Given the description of an element on the screen output the (x, y) to click on. 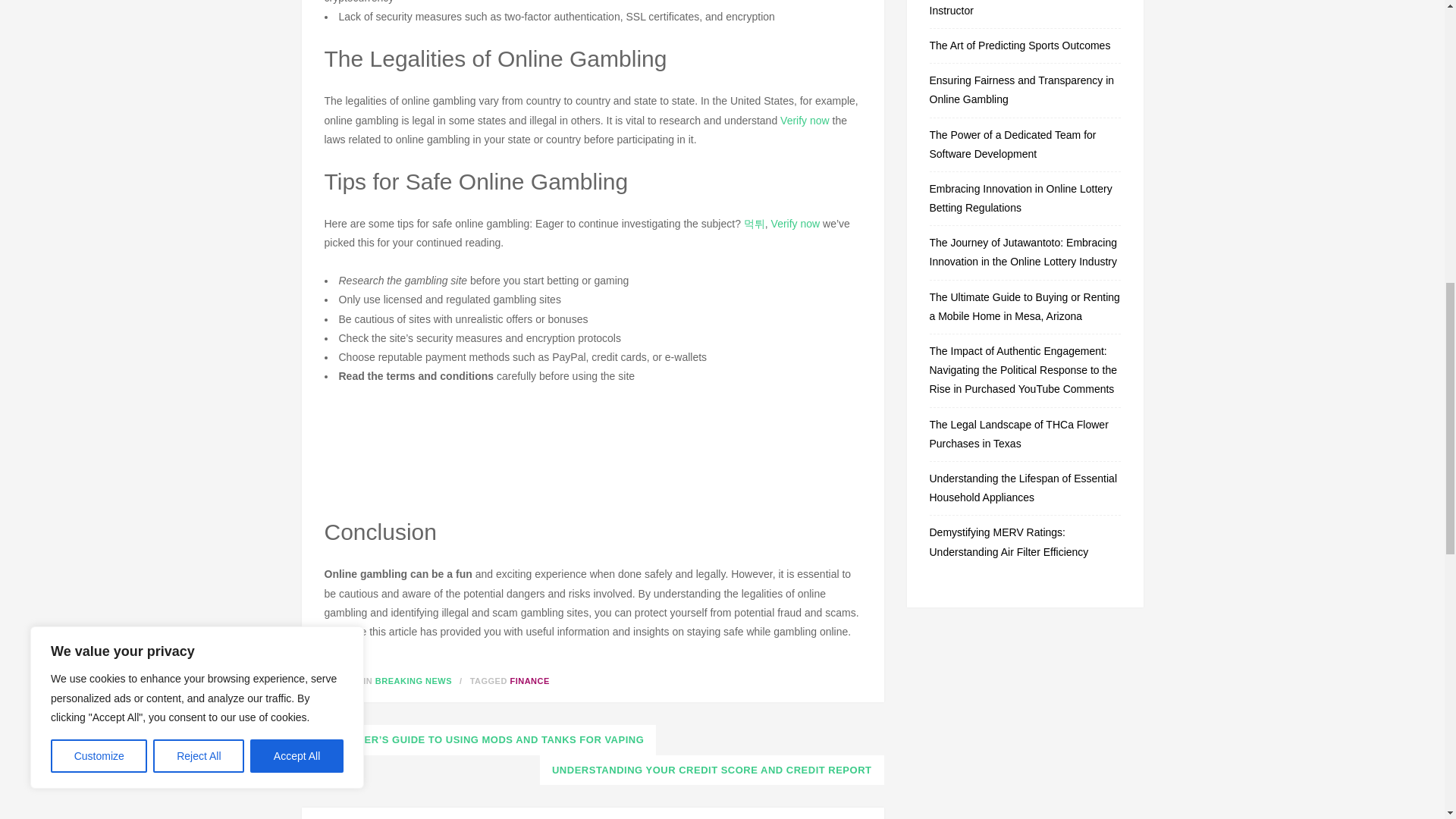
FINANCE (528, 680)
BREAKING NEWS (413, 680)
Verify now (796, 223)
Verify now (804, 120)
UNDERSTANDING YOUR CREDIT SCORE AND CREDIT REPORT (711, 770)
